Given the description of an element on the screen output the (x, y) to click on. 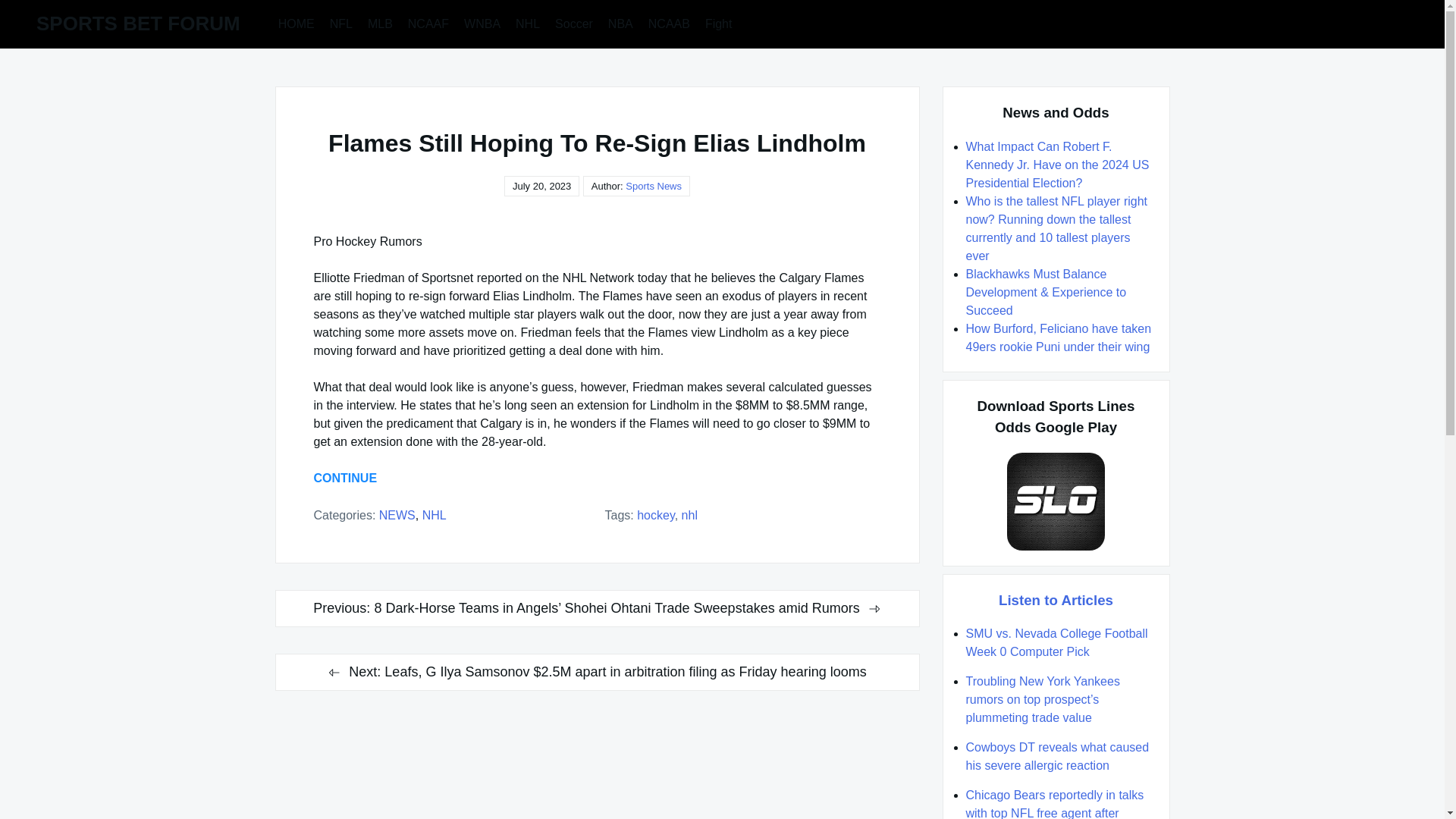
Soccer (573, 23)
WNBA (482, 23)
HOME (295, 23)
NFL (340, 23)
MLB (379, 23)
Posts by Sports News (653, 186)
CONTINUE (345, 477)
NEWS (396, 514)
NBA (619, 23)
